Given the description of an element on the screen output the (x, y) to click on. 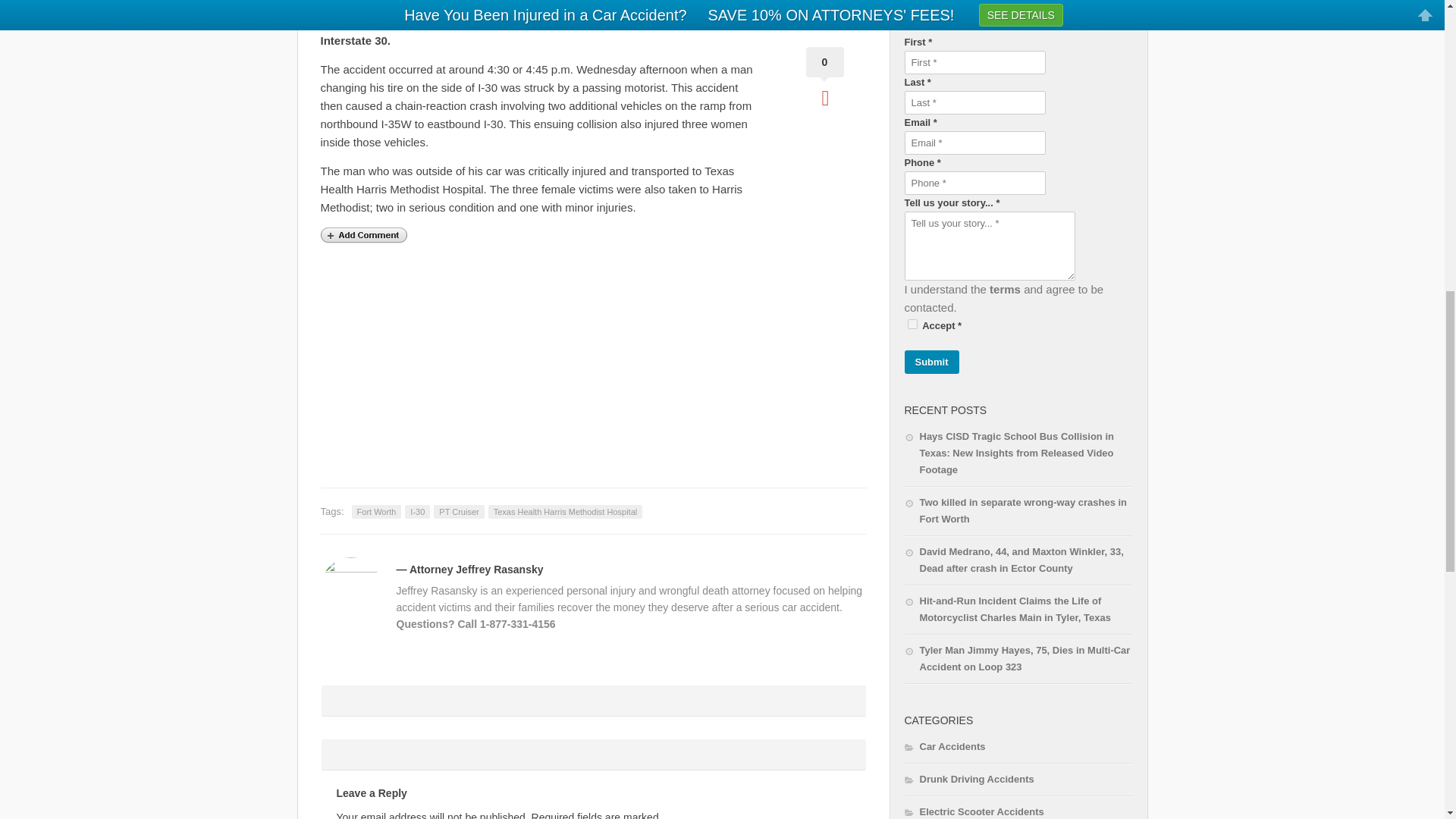
I-30 (416, 511)
Fort Worth (376, 511)
Submit (931, 361)
terms (1005, 288)
PT Cruiser (458, 511)
0 (824, 76)
Texas Health Harris Methodist Hospital (565, 511)
3201 (912, 324)
